Given the description of an element on the screen output the (x, y) to click on. 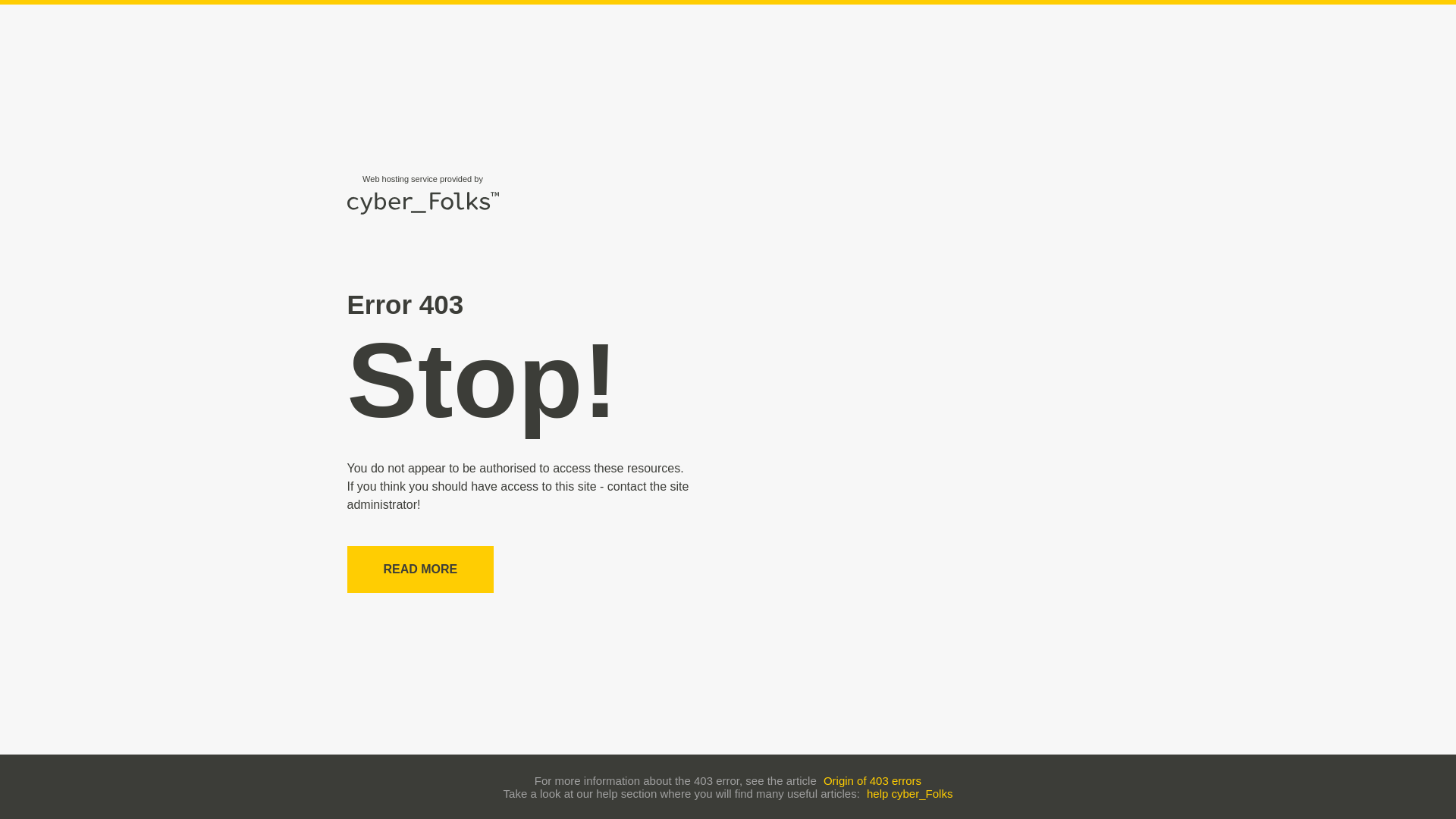
Origin of 403 errors (872, 779)
READ MORE (421, 569)
